Given the description of an element on the screen output the (x, y) to click on. 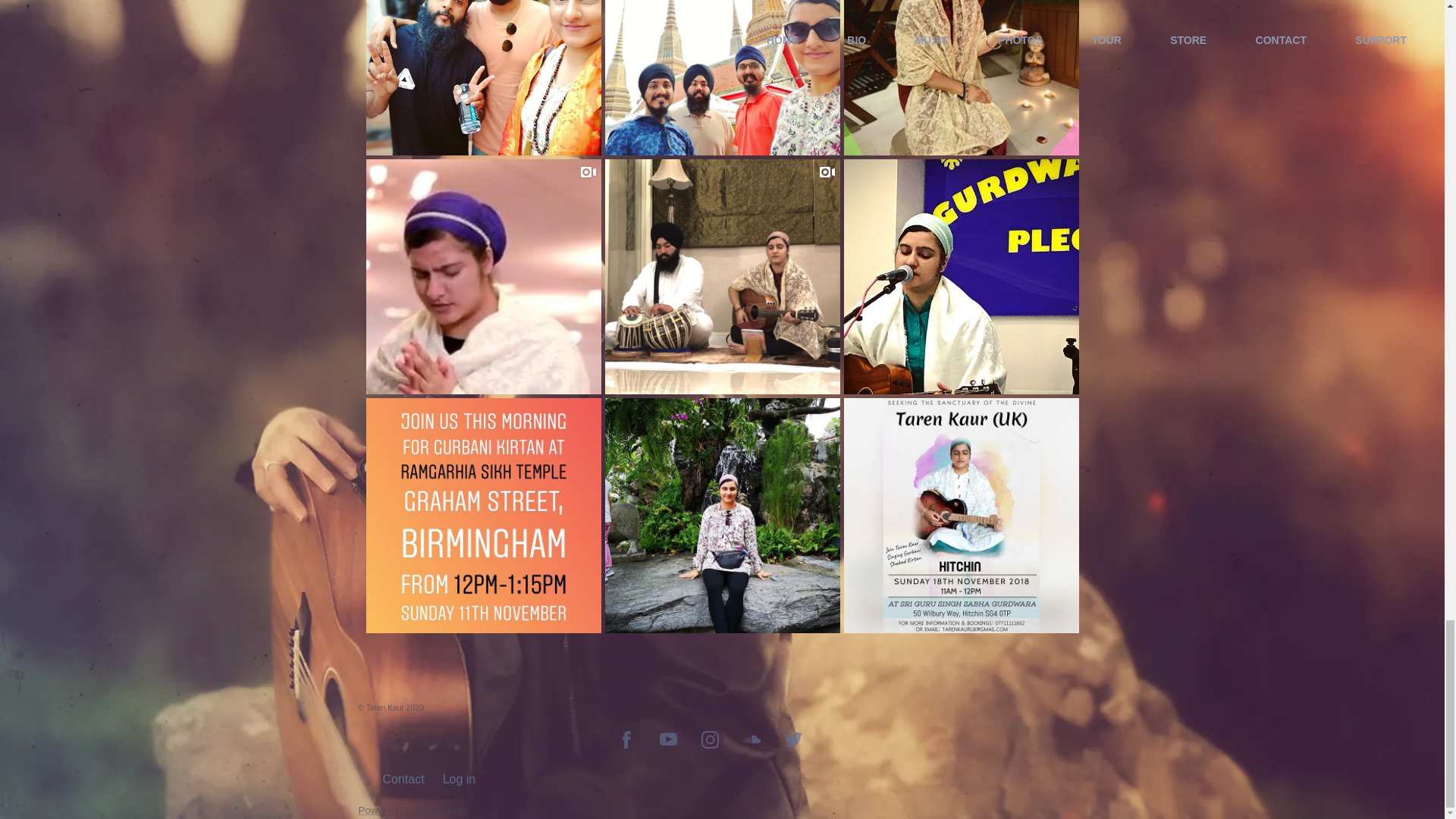
Powered by Bandzoogle (412, 809)
Log in (459, 779)
Contact (402, 779)
Powered by Bandzoogle (412, 809)
